Given the description of an element on the screen output the (x, y) to click on. 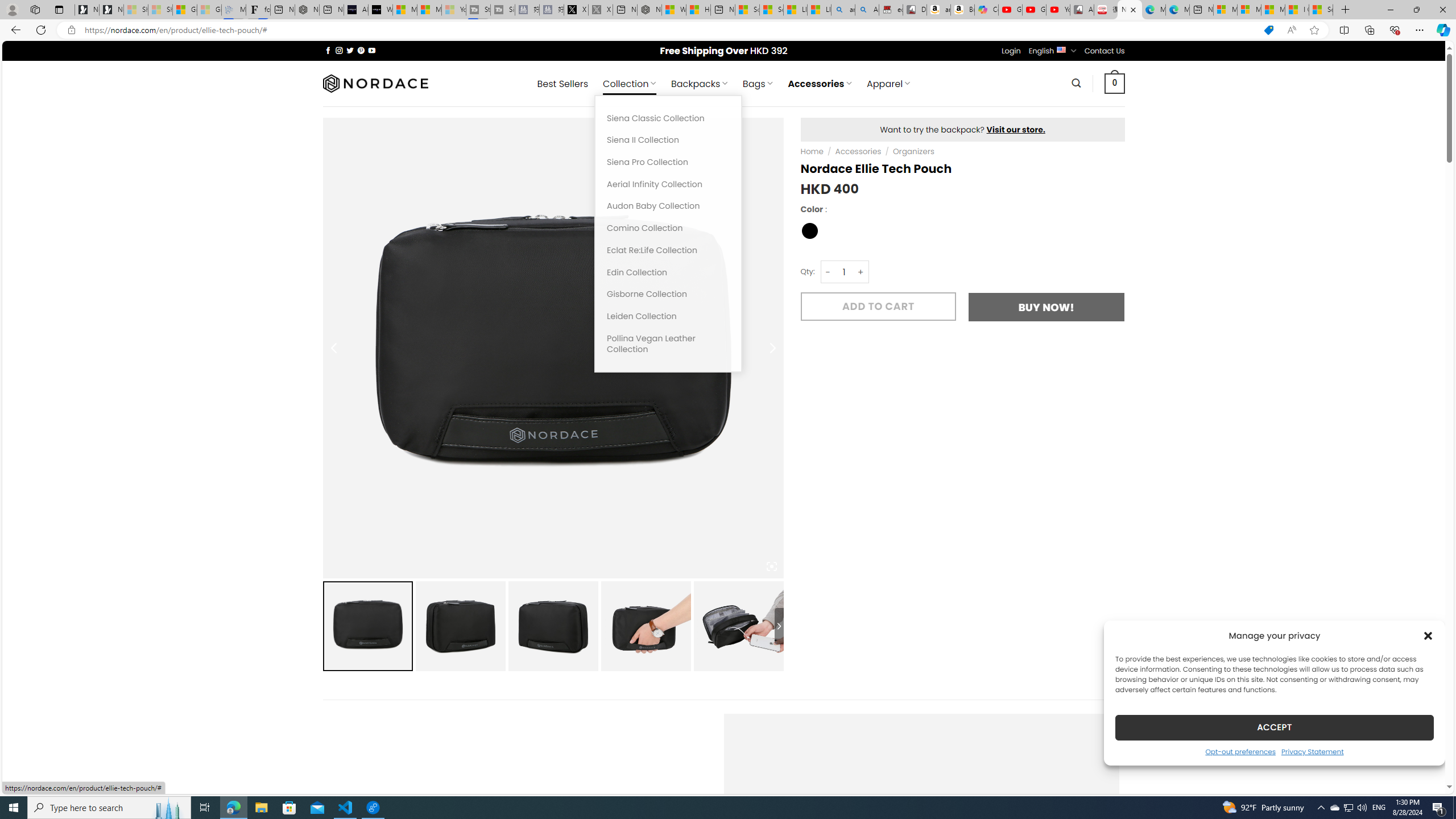
Contact Us (1104, 50)
Nordace (374, 83)
- (827, 272)
Close (1442, 9)
Comino Collection (668, 228)
 Best Sellers (562, 83)
Siena Pro Collection (668, 162)
